Given the description of an element on the screen output the (x, y) to click on. 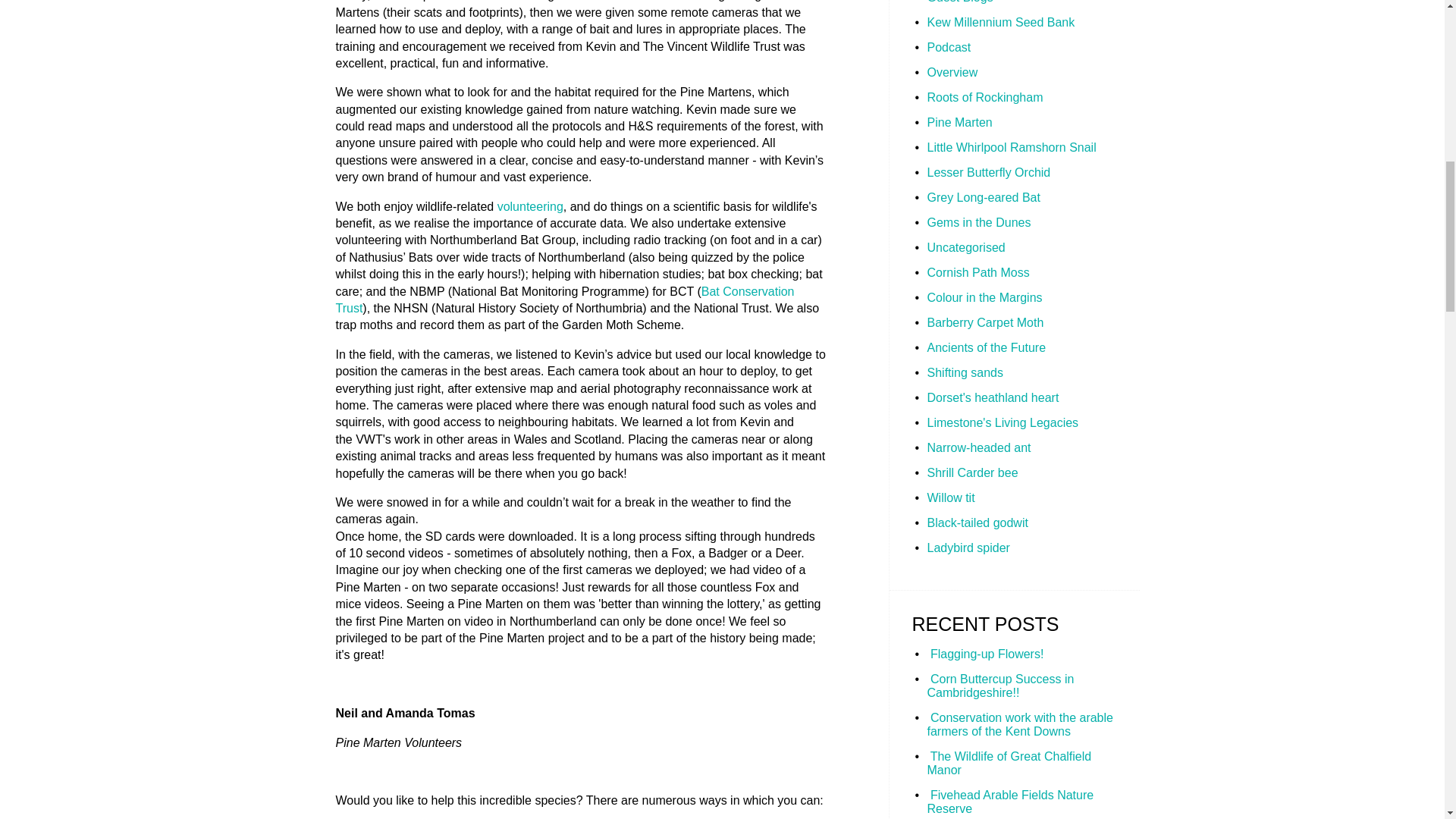
Dorset's heathland heart (992, 397)
Gems in the Dunes (978, 222)
Lesser Butterfly Orchid (987, 172)
Bat Conservation Trust (563, 299)
Shifting sands (964, 372)
Limestone's Living Legacies (1002, 422)
Cornish Path Moss (977, 272)
Ancients of the Future (985, 347)
Uncategorised (965, 246)
Colour in the Margins (984, 297)
Little Whirlpool Ramshorn Snail (1011, 146)
Kew Millennium Seed Bank (1000, 21)
Roots of Rockingham (984, 97)
volunteering (530, 205)
Pine Marten (958, 122)
